Given the description of an element on the screen output the (x, y) to click on. 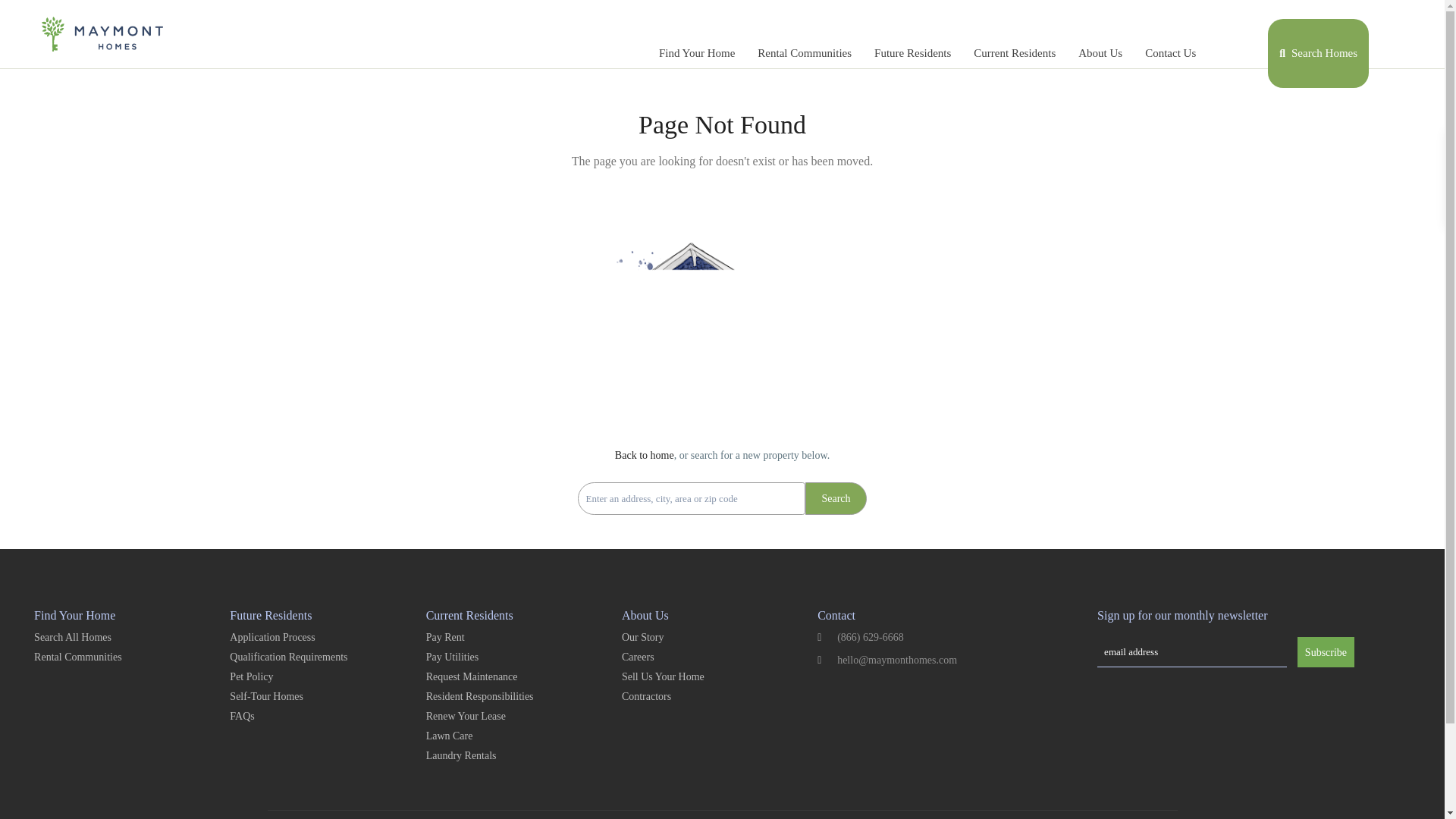
Subscribe (1325, 652)
